Given the description of an element on the screen output the (x, y) to click on. 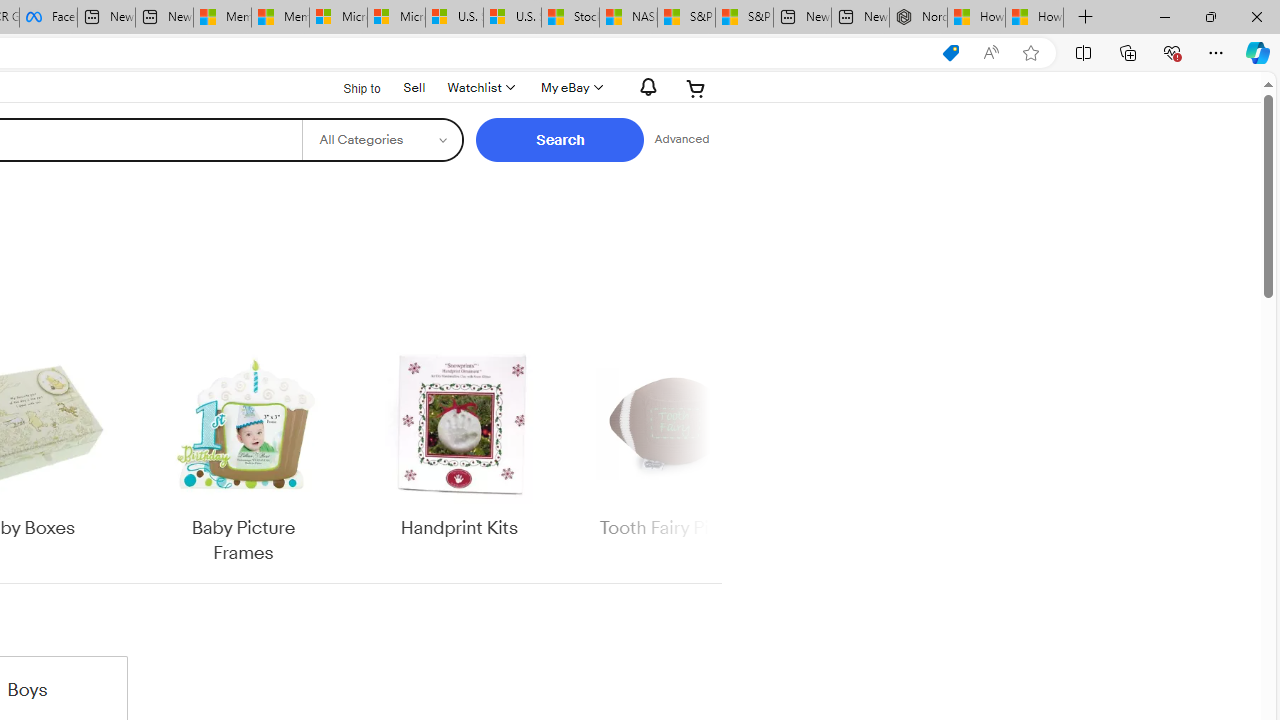
Go to next slide (708, 455)
Sell (414, 87)
This site has coupons! Shopping in Microsoft Edge (950, 53)
Settings and more (Alt+F) (1215, 52)
Split screen (1083, 52)
Copilot (Ctrl+Shift+.) (1258, 52)
Facebook (48, 17)
Expand Cart (696, 88)
New tab (860, 17)
New Tab (1085, 17)
Search (560, 140)
Ship to (349, 86)
Select a category for search (382, 139)
Advanced Search (681, 139)
